Given the description of an element on the screen output the (x, y) to click on. 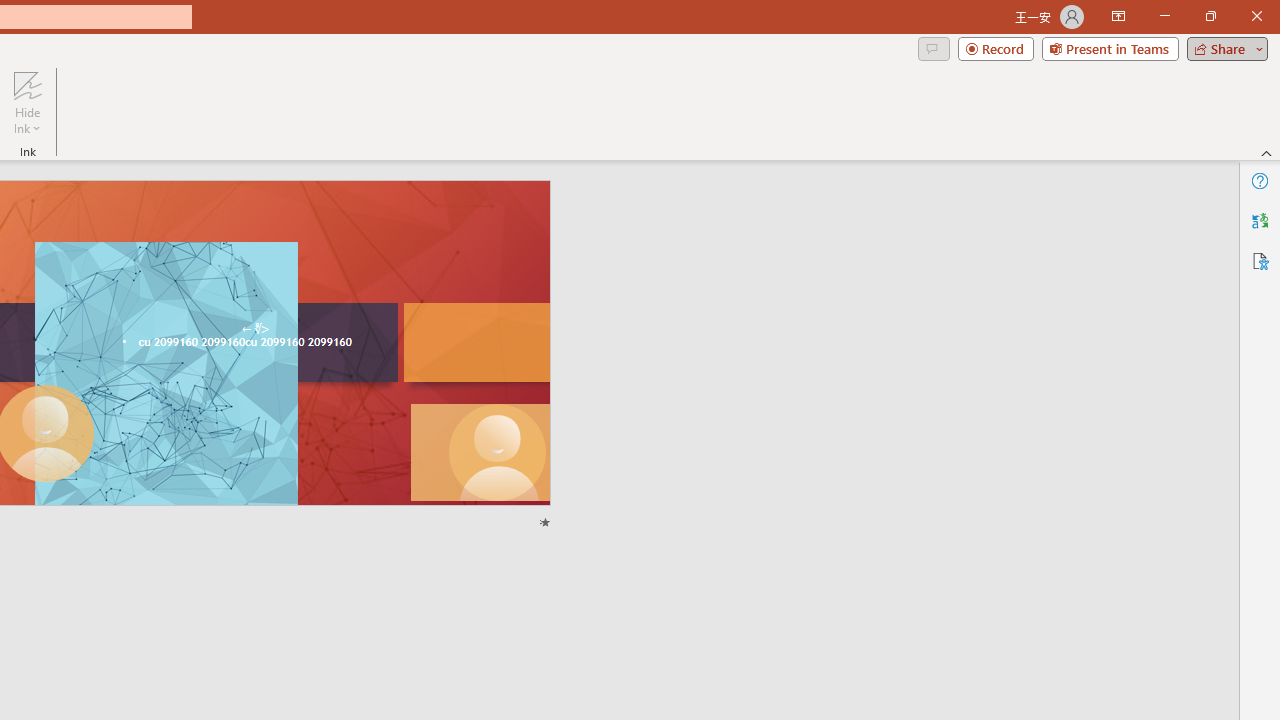
Hide Ink (27, 84)
